Given the description of an element on the screen output the (x, y) to click on. 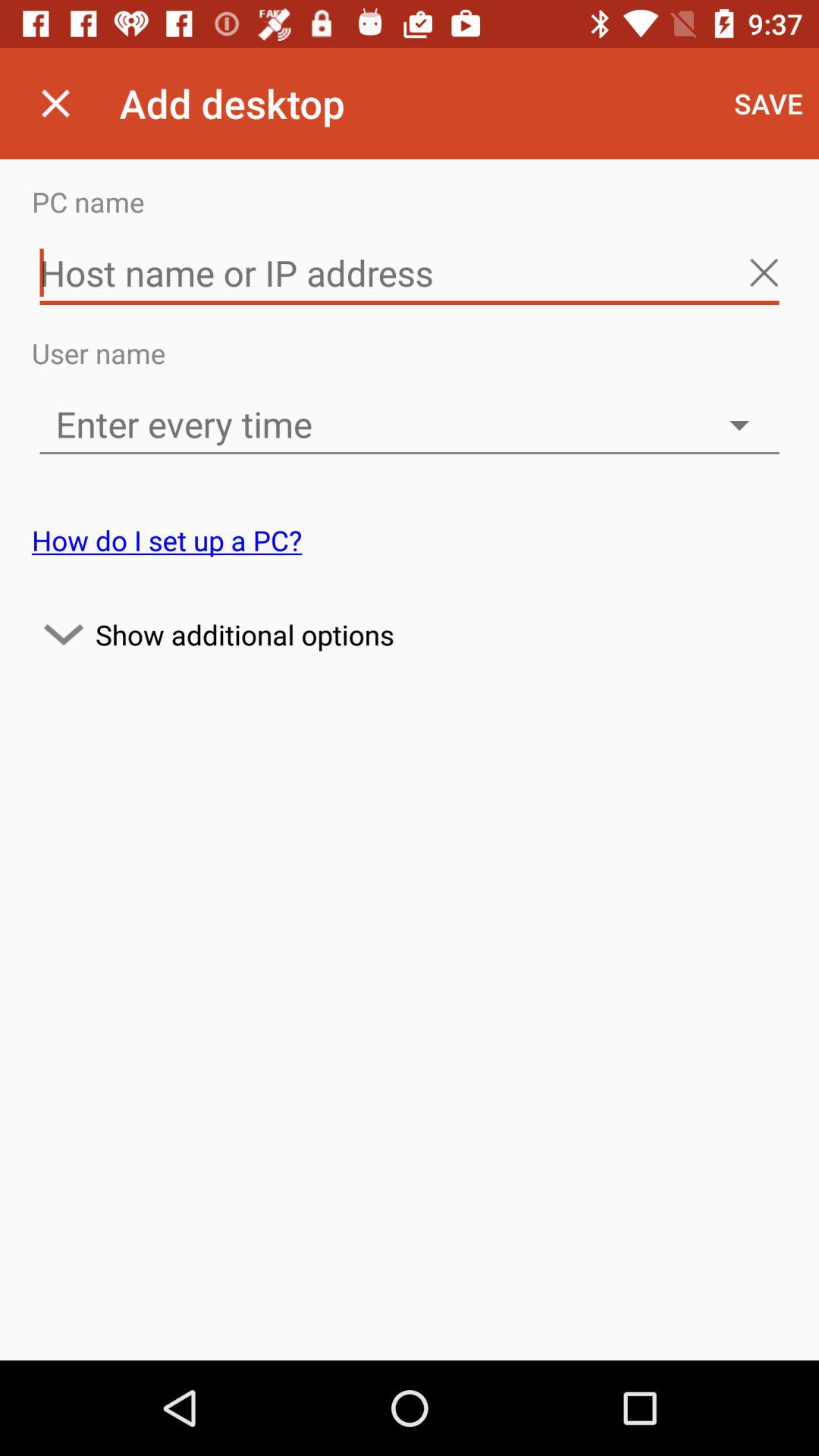
turn on item below the enter every time (166, 540)
